Given the description of an element on the screen output the (x, y) to click on. 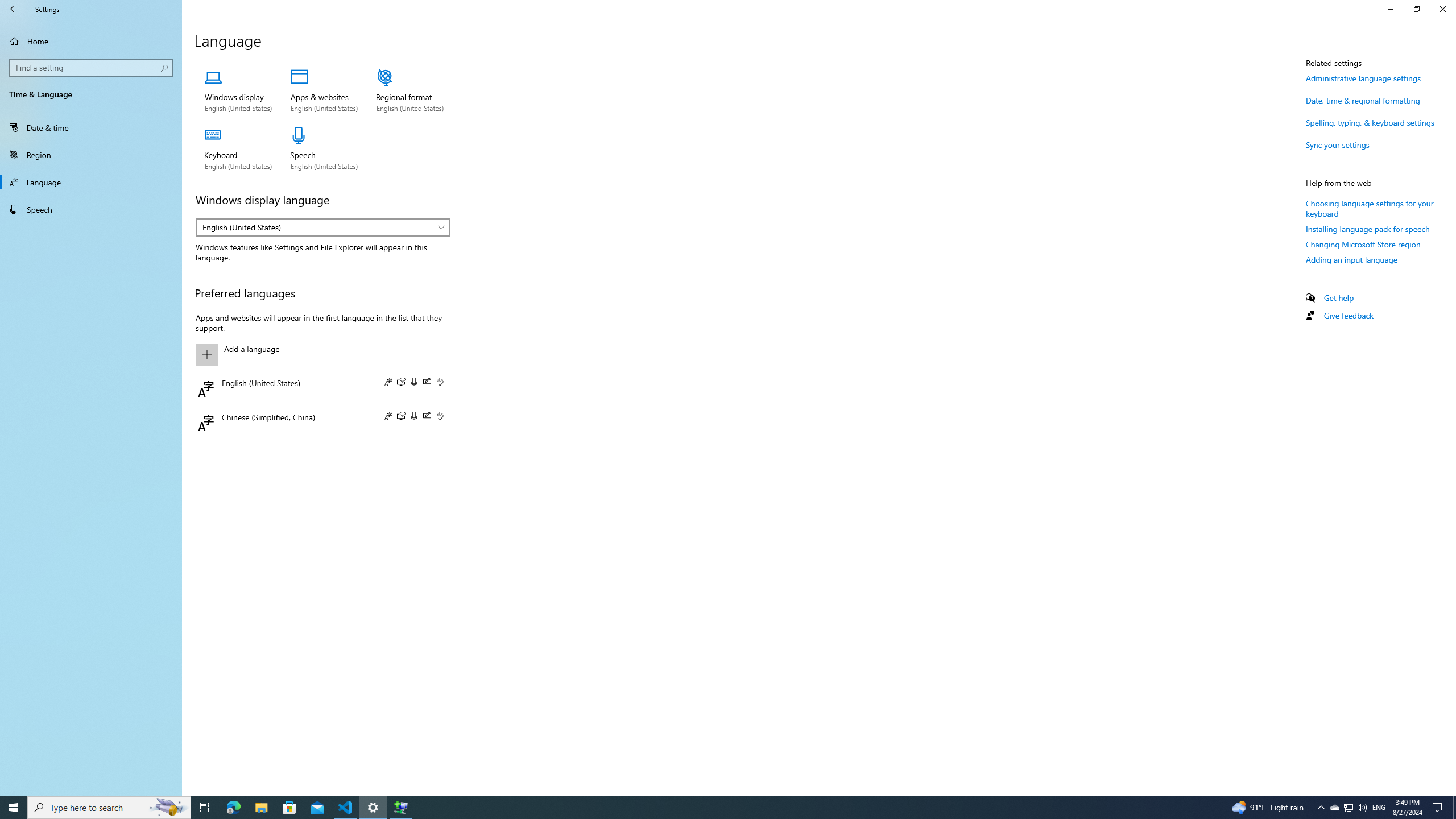
Manage Windows display language (238, 90)
Manage regional format language (410, 90)
Settings - 1 running window (373, 807)
Home (91, 40)
Search box, Find a setting (91, 67)
Date, time & regional formatting (1362, 100)
Installing language pack for speech (1367, 228)
Date & time (91, 126)
